Given the description of an element on the screen output the (x, y) to click on. 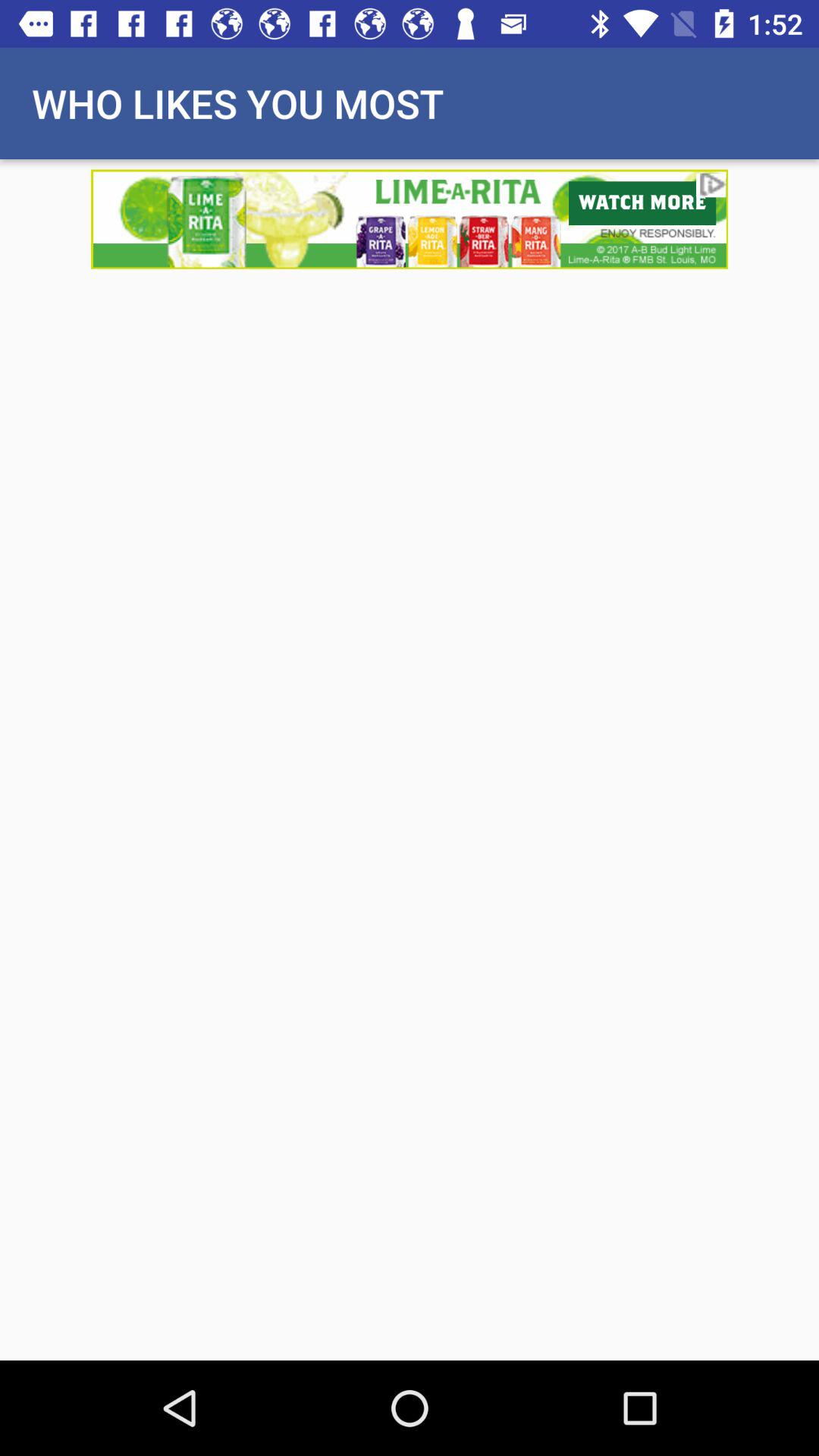
visit advertiser (409, 219)
